Given the description of an element on the screen output the (x, y) to click on. 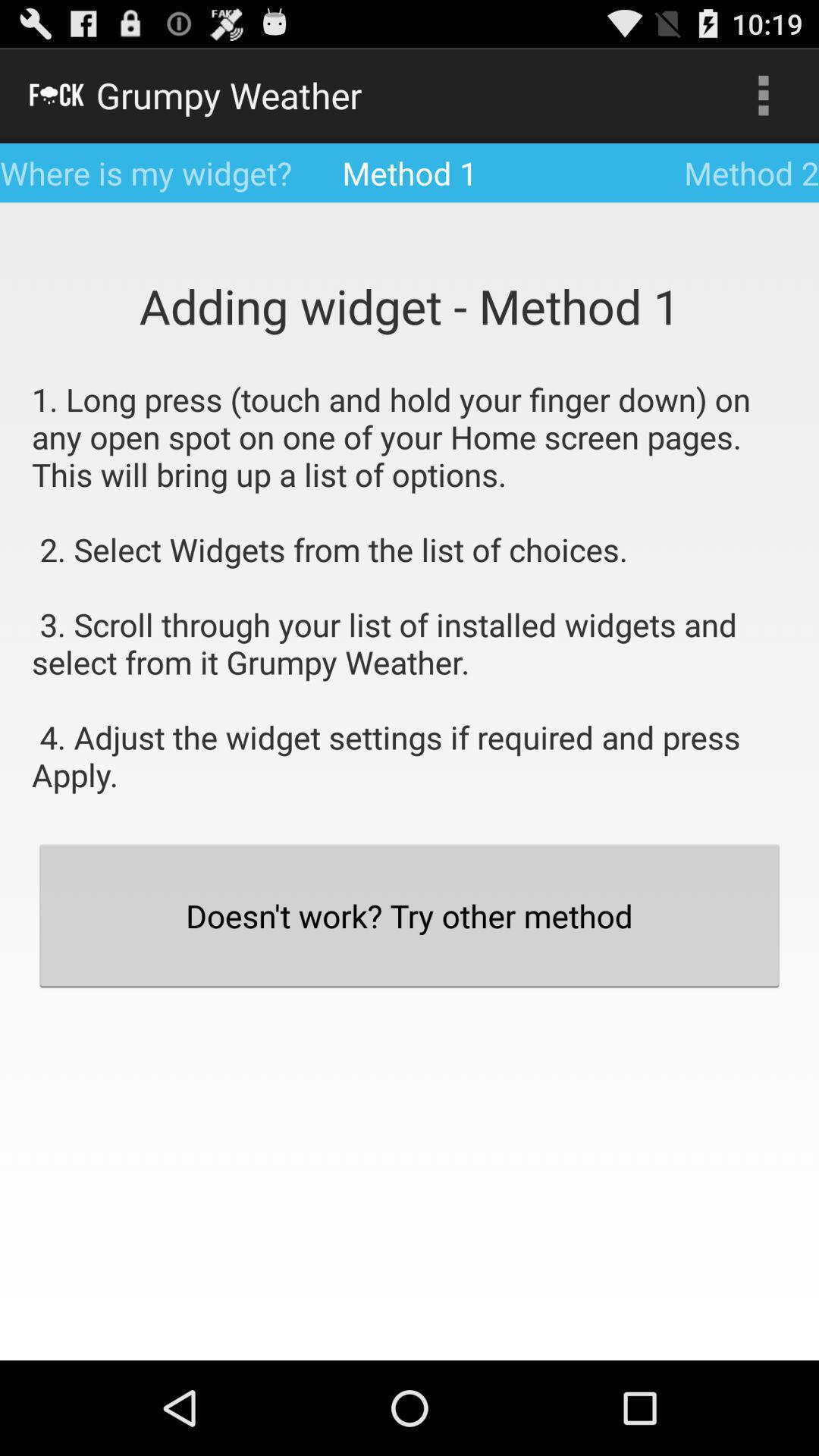
launch the item below 1 long press item (409, 915)
